Given the description of an element on the screen output the (x, y) to click on. 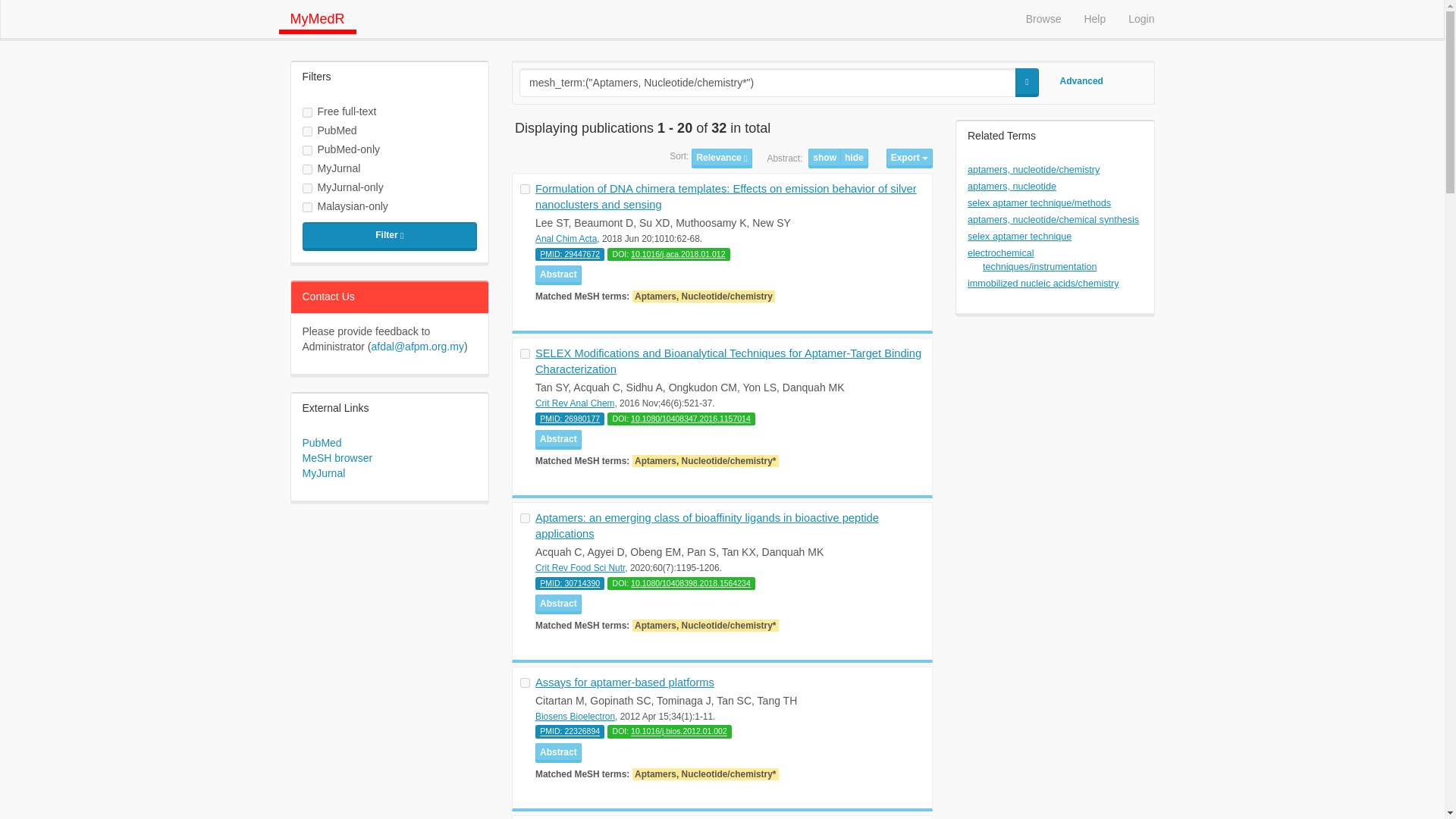
Help (1093, 18)
show (824, 158)
PMID: 29447672 (569, 253)
hide (853, 158)
Abstract (557, 439)
PMID: 30714390 (569, 583)
on (524, 682)
on (524, 518)
MyMedR (317, 17)
Crit Rev Food Sci Nutr (579, 567)
